Given the description of an element on the screen output the (x, y) to click on. 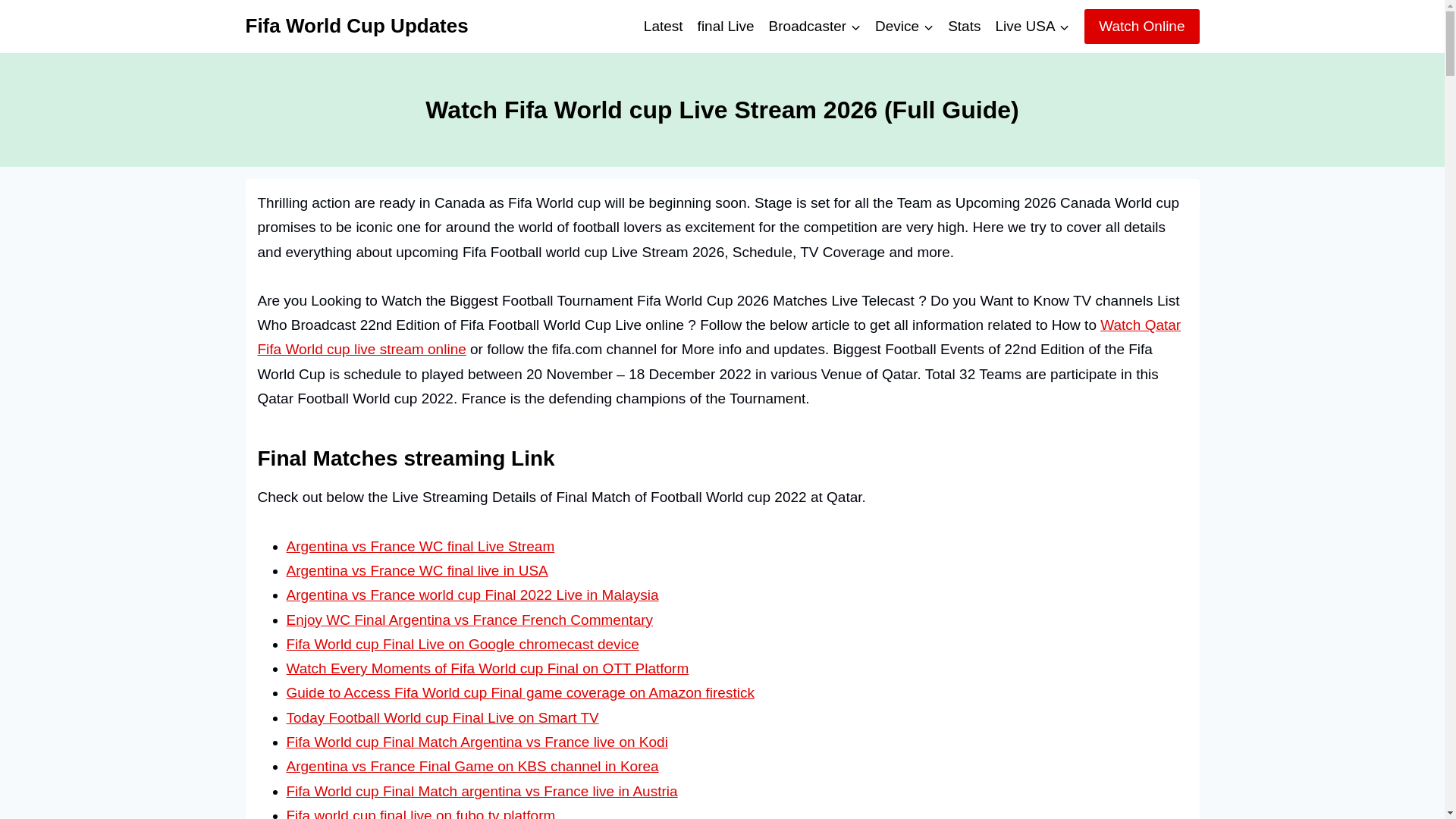
Watch Online (1141, 26)
Argentina vs France world cup Final 2022 Live in Malaysia (472, 594)
Today Football World cup Final Live on Smart TV (442, 717)
Fifa World cup Final Live on Google chromecast device (462, 643)
Device (903, 25)
Broadcaster (814, 25)
Watch Every Moments of Fifa World cup Final on OTT Platform (487, 668)
Latest (663, 25)
womens World cup Live Stream 2023 (725, 25)
final Live (725, 25)
